Given the description of an element on the screen output the (x, y) to click on. 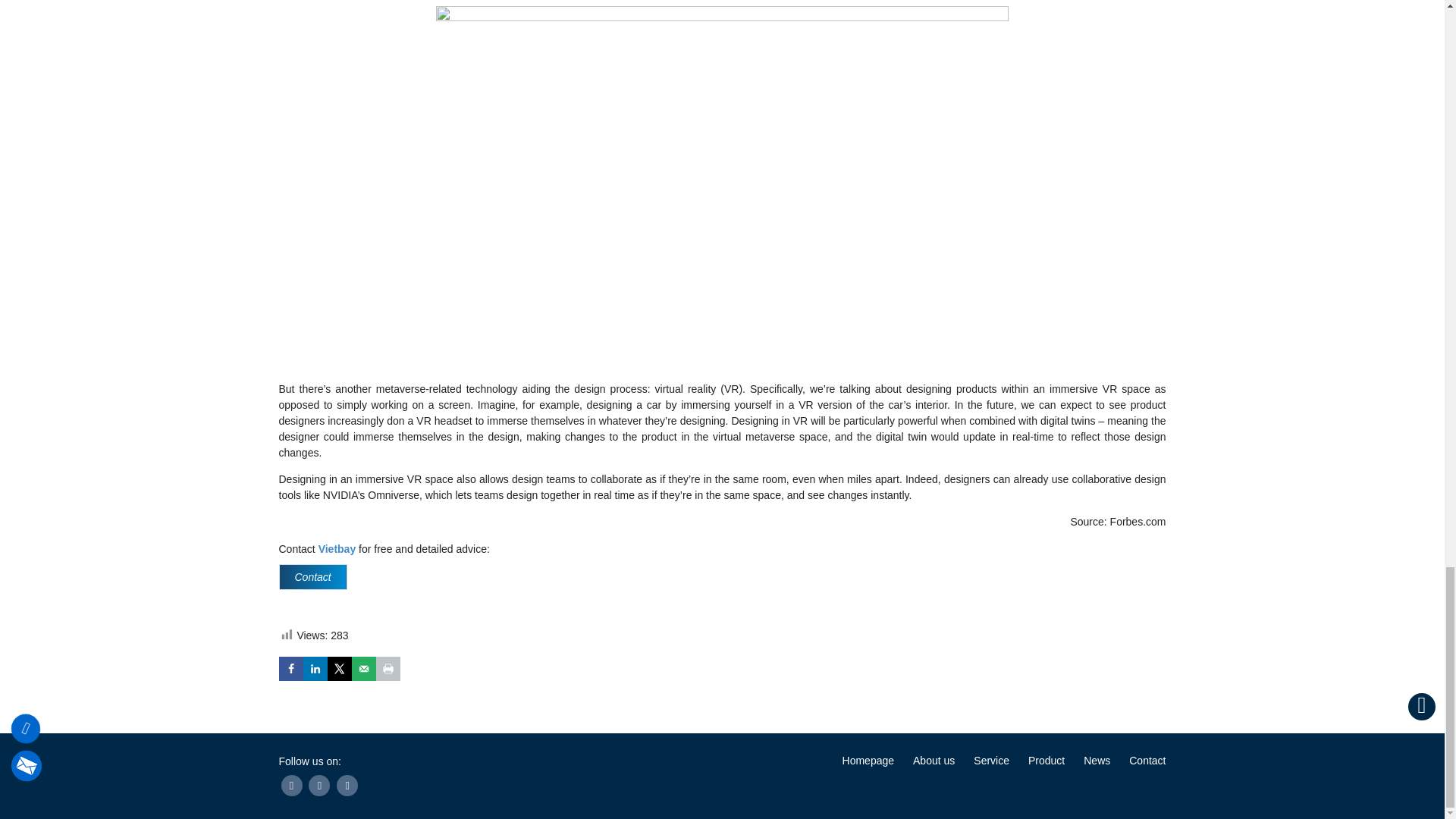
Share on Facebook (290, 668)
Share on LinkedIn (314, 668)
Send over email (363, 668)
Print this webpage (387, 668)
Share on X (339, 668)
